Given the description of an element on the screen output the (x, y) to click on. 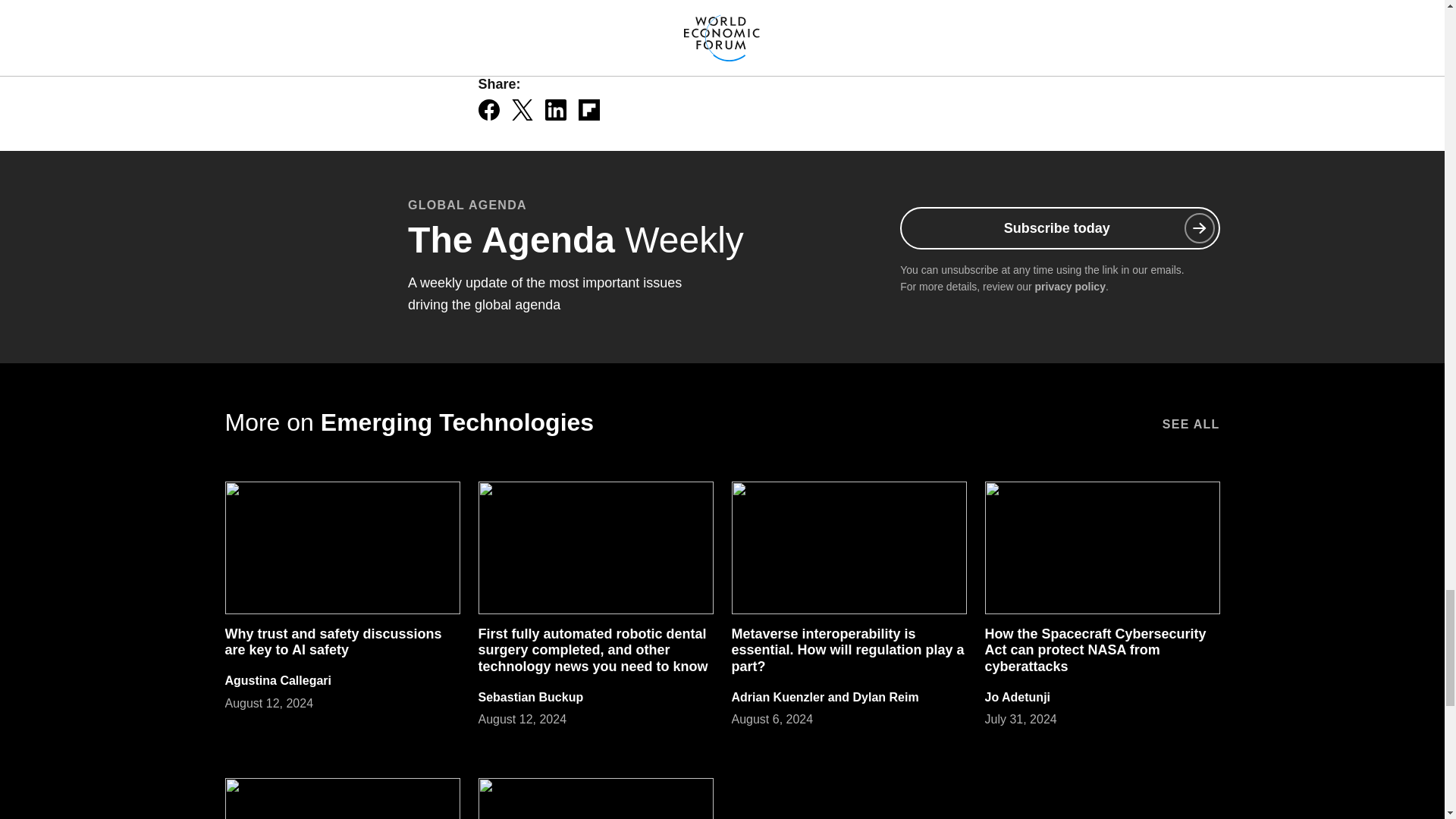
Health and Healthcare Systems (743, 1)
privacy policy (1070, 286)
Subscribe today (1059, 228)
Emerging Technologies (555, 1)
SEE ALL (1190, 421)
Why trust and safety discussions are key to AI safety (332, 642)
